Given the description of an element on the screen output the (x, y) to click on. 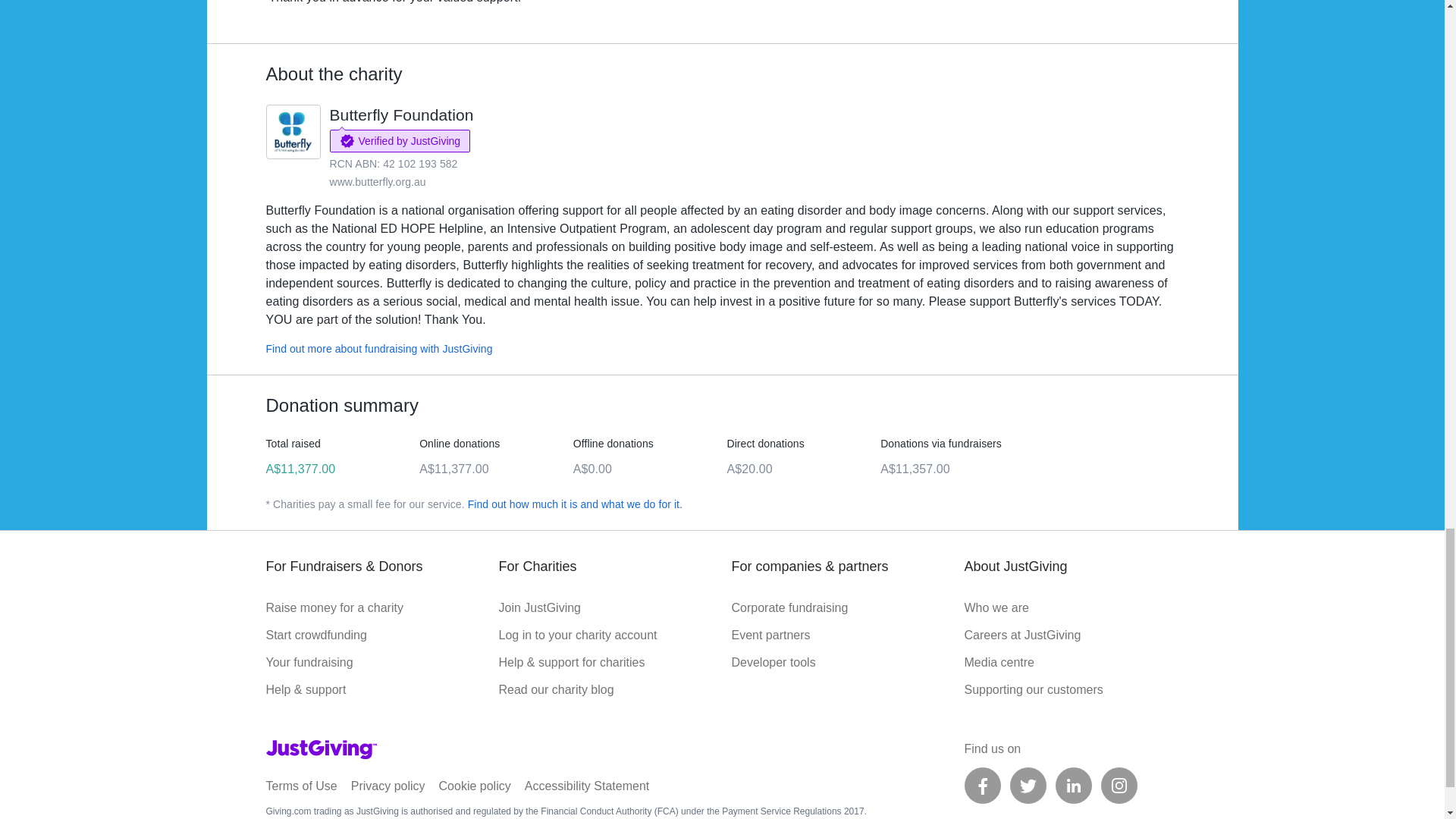
Find out more about fundraising with JustGiving (378, 348)
www.butterfly.org.au (377, 182)
Find out how much it is and what we do for it. (574, 503)
Butterfly Foundation (401, 114)
